Given the description of an element on the screen output the (x, y) to click on. 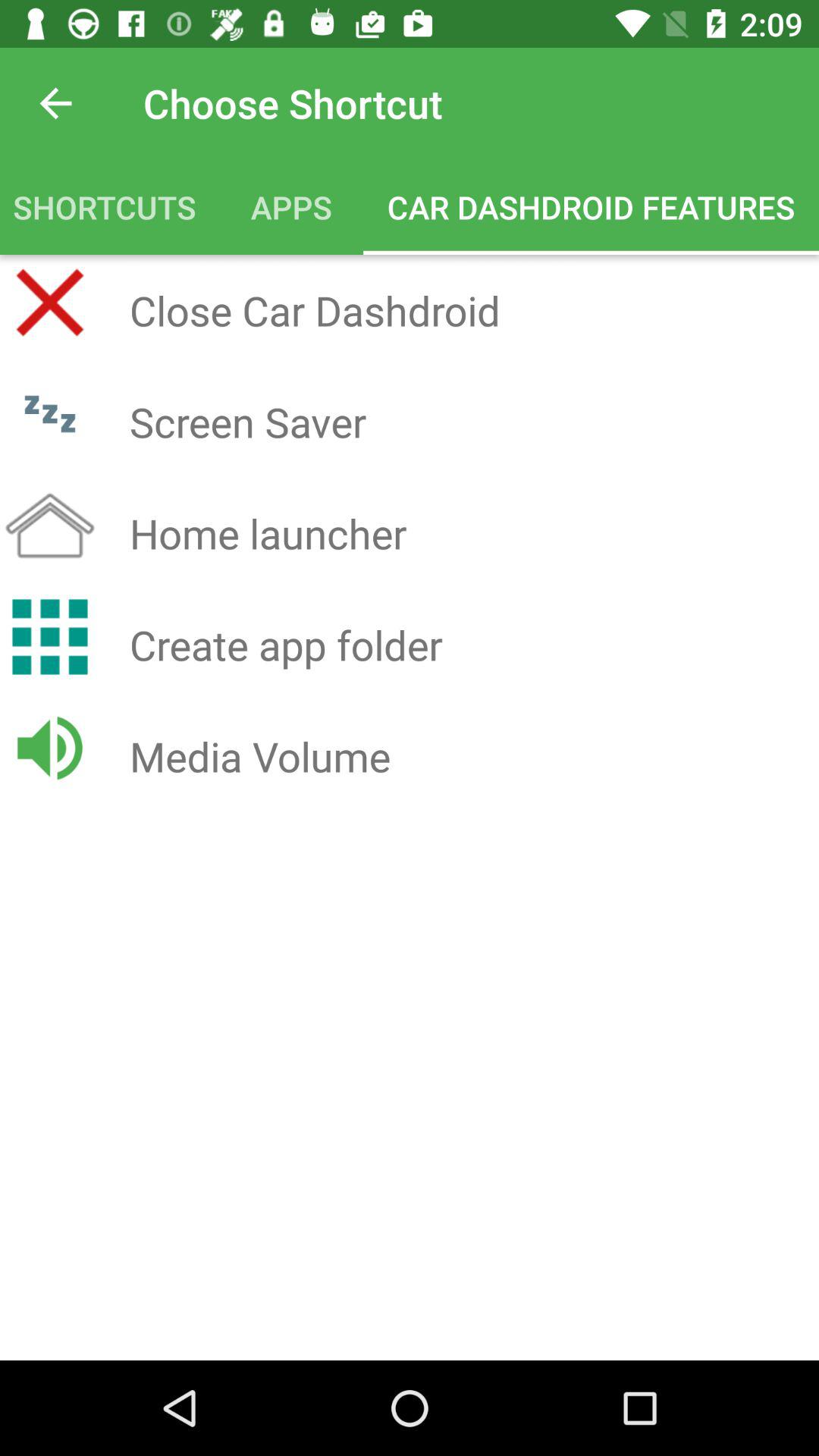
click on cross icon (49, 302)
click on the home icon beside home launcher (49, 525)
